Given the description of an element on the screen output the (x, y) to click on. 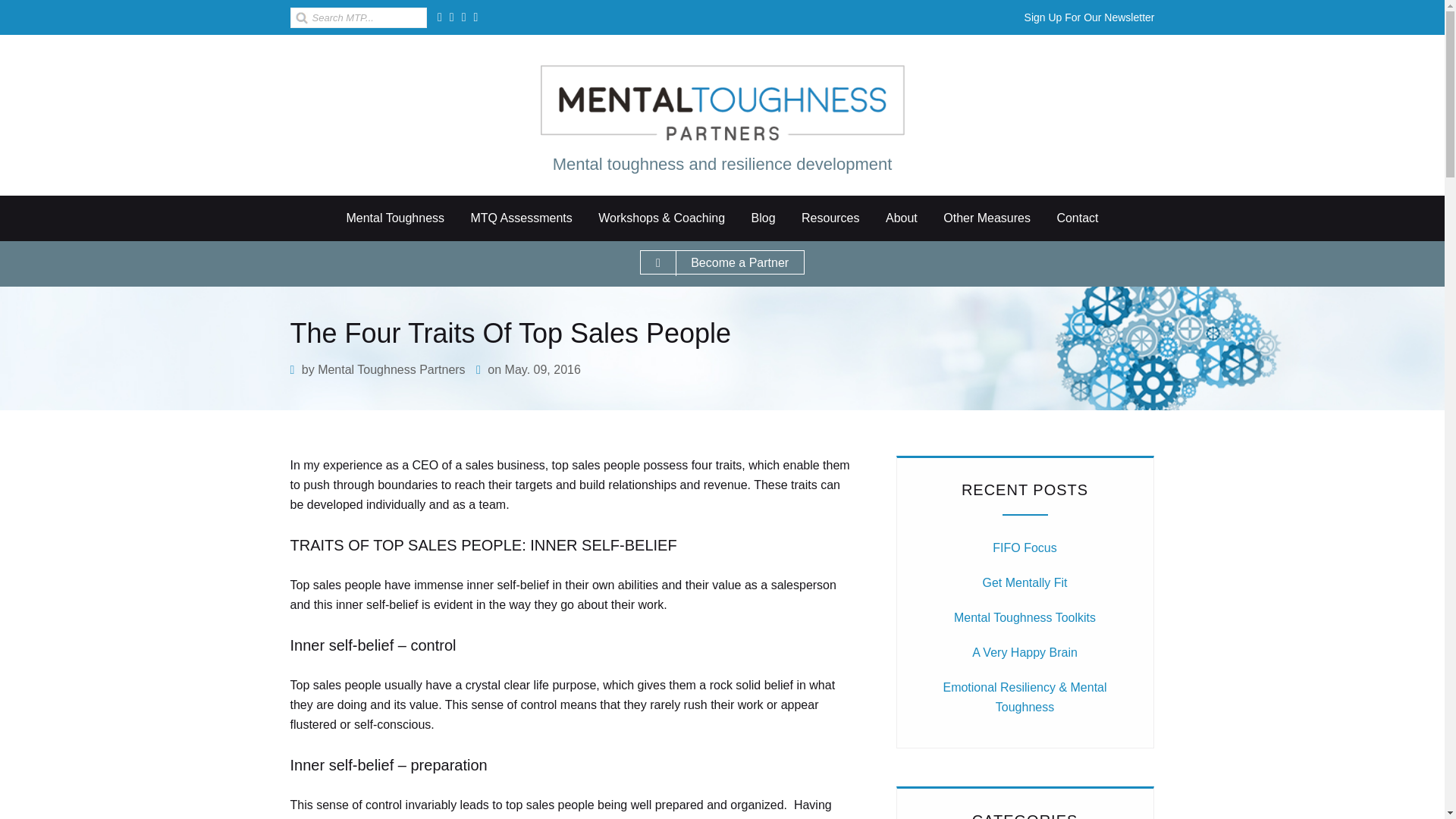
Mental Toughness (394, 217)
About (901, 217)
Sign Up For Our Newsletter (1089, 17)
Resources (830, 217)
Blog (763, 217)
MTQ Assessments (520, 217)
Mental Toughness Partners (722, 102)
